Given the description of an element on the screen output the (x, y) to click on. 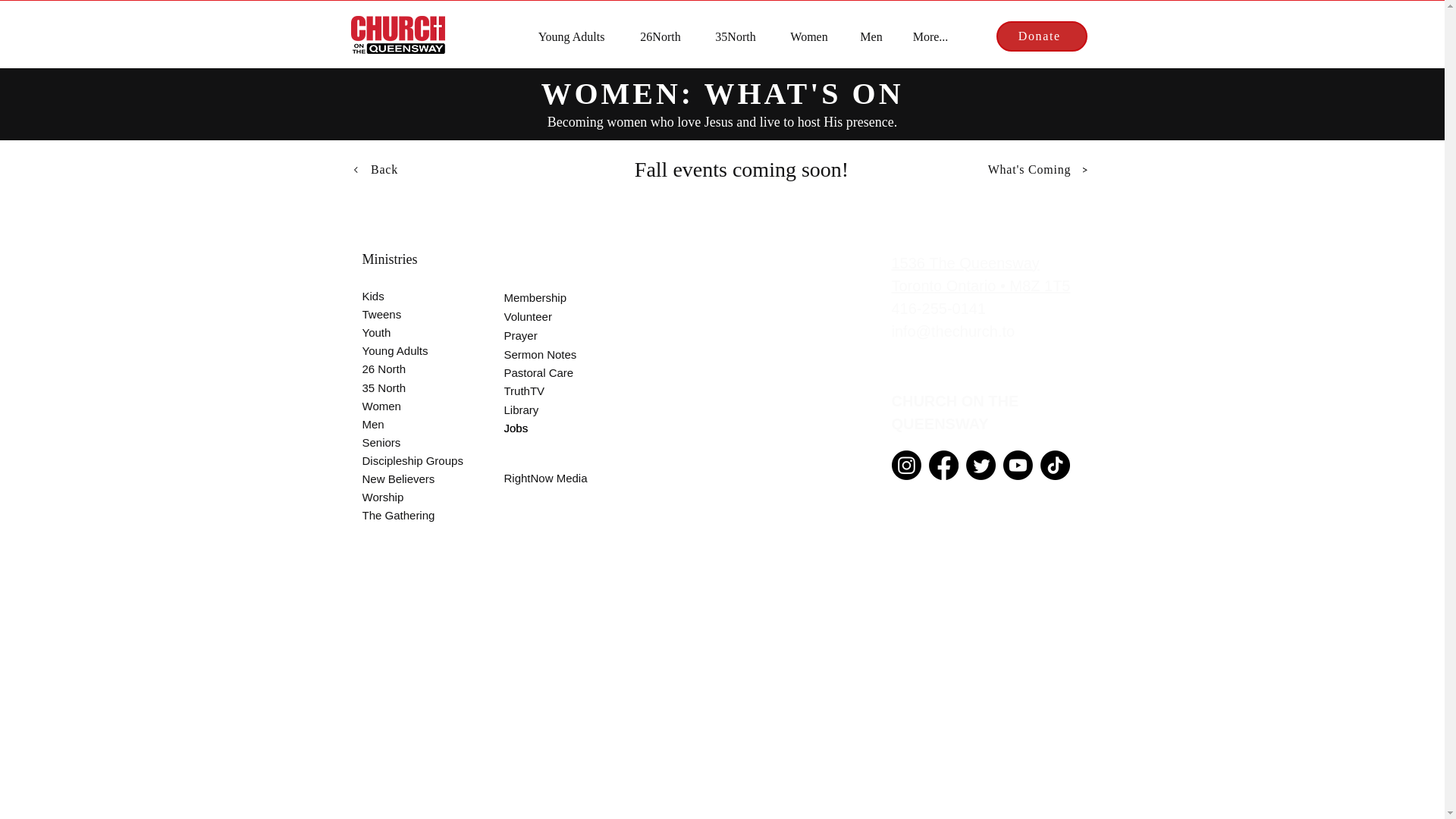
Youth (405, 331)
Women (405, 405)
35North (735, 36)
Volunteer (546, 316)
Prayer (546, 334)
What's Coming (1037, 169)
The Gathering (405, 515)
Kids (405, 295)
Women (809, 36)
Tweens (405, 313)
Discipleship Groups (419, 460)
New Believers (405, 478)
Worship (405, 496)
26 North (405, 368)
Men (405, 423)
